Given the description of an element on the screen output the (x, y) to click on. 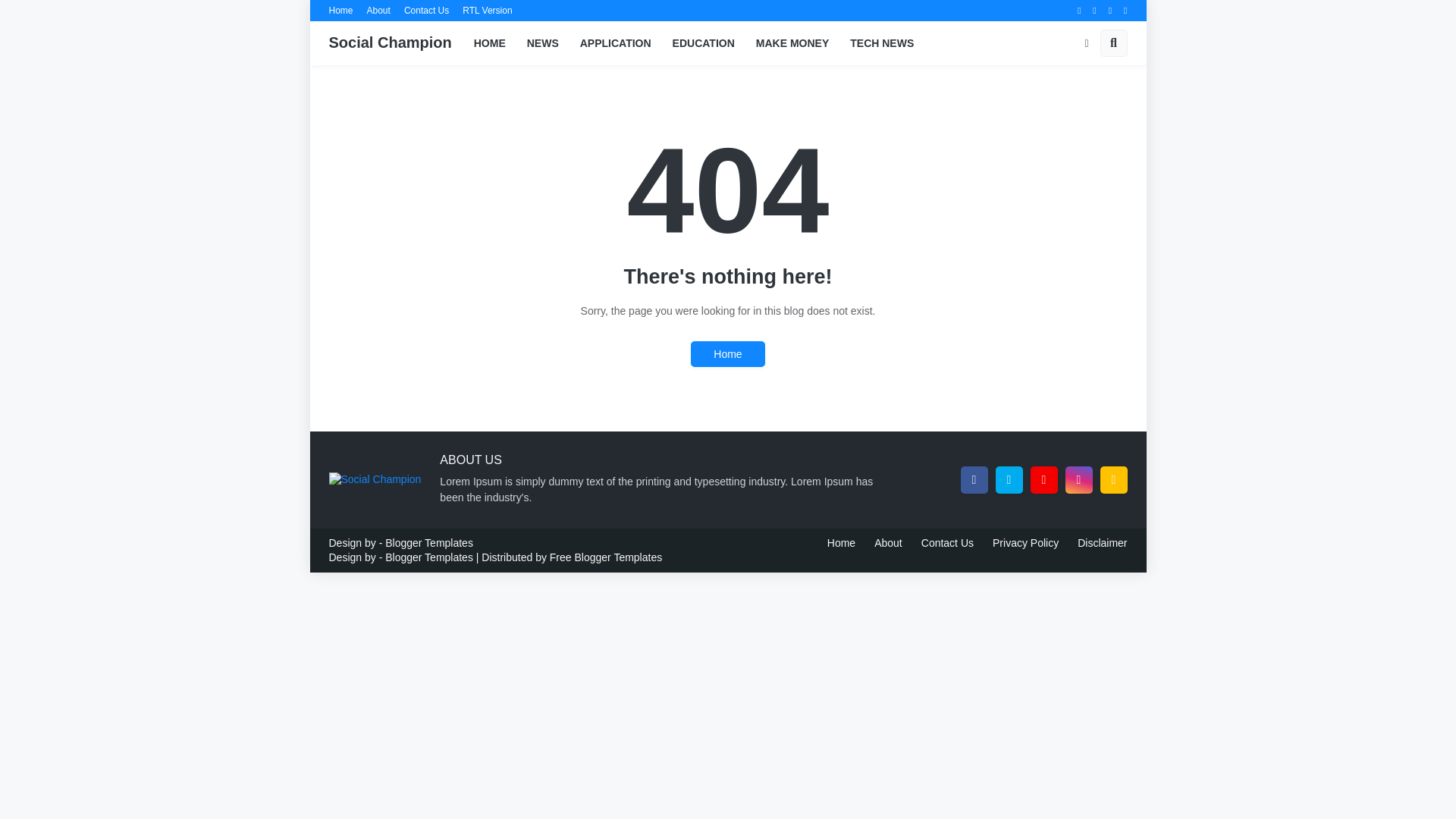
HOME (489, 43)
RTL Version (487, 10)
NEWS (542, 43)
Social Champion (390, 42)
youtube (1043, 479)
Contact Us (426, 10)
instagram (1078, 479)
Home (341, 10)
About (378, 10)
MAKE MONEY (792, 43)
EDUCATION (703, 43)
TECH NEWS (882, 43)
facebook-f (973, 479)
Home (727, 353)
Search (1112, 42)
